Given the description of an element on the screen output the (x, y) to click on. 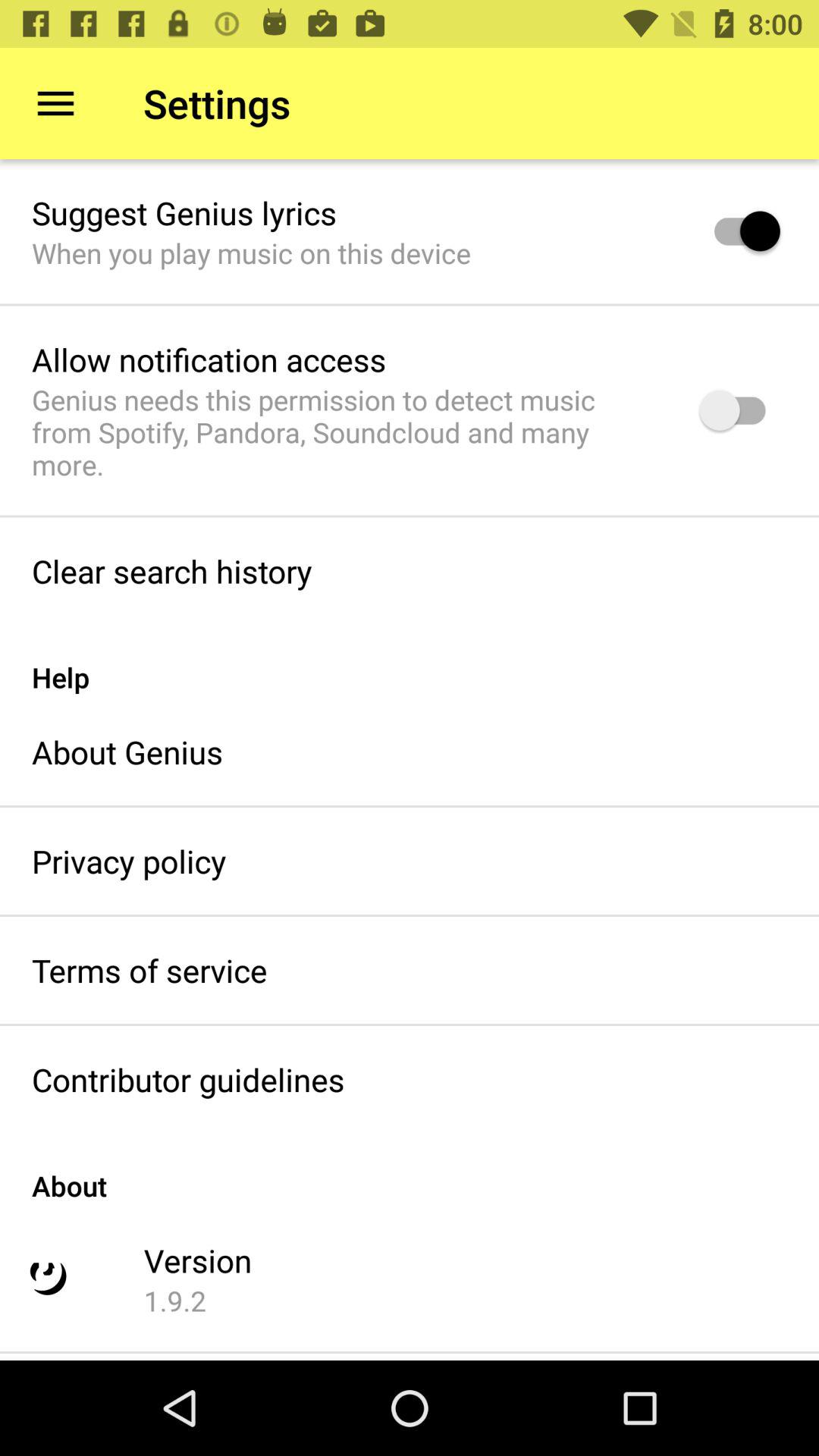
jump to help (409, 661)
